Given the description of an element on the screen output the (x, y) to click on. 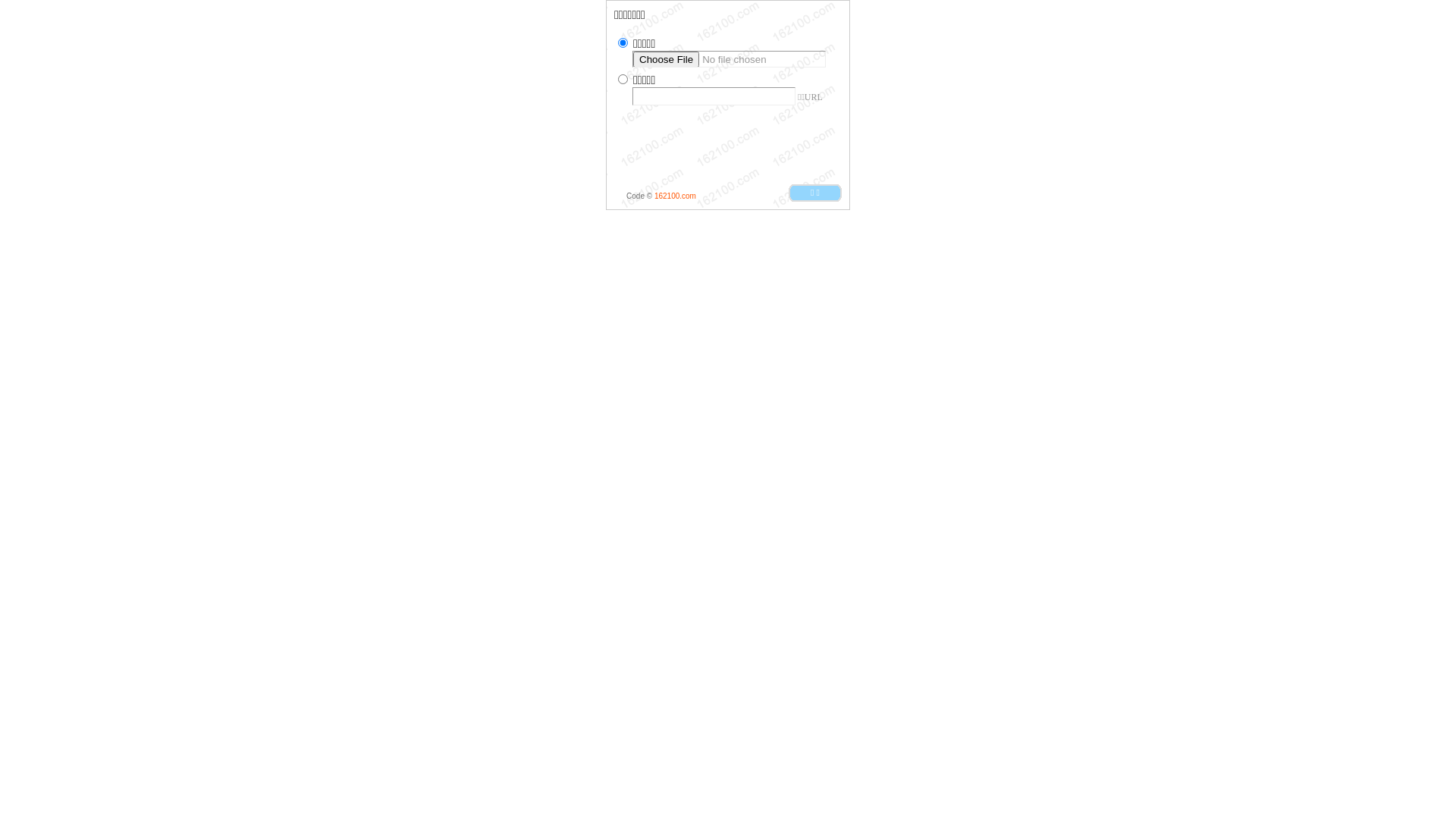
162100.com Element type: text (675, 195)
